Given the description of an element on the screen output the (x, y) to click on. 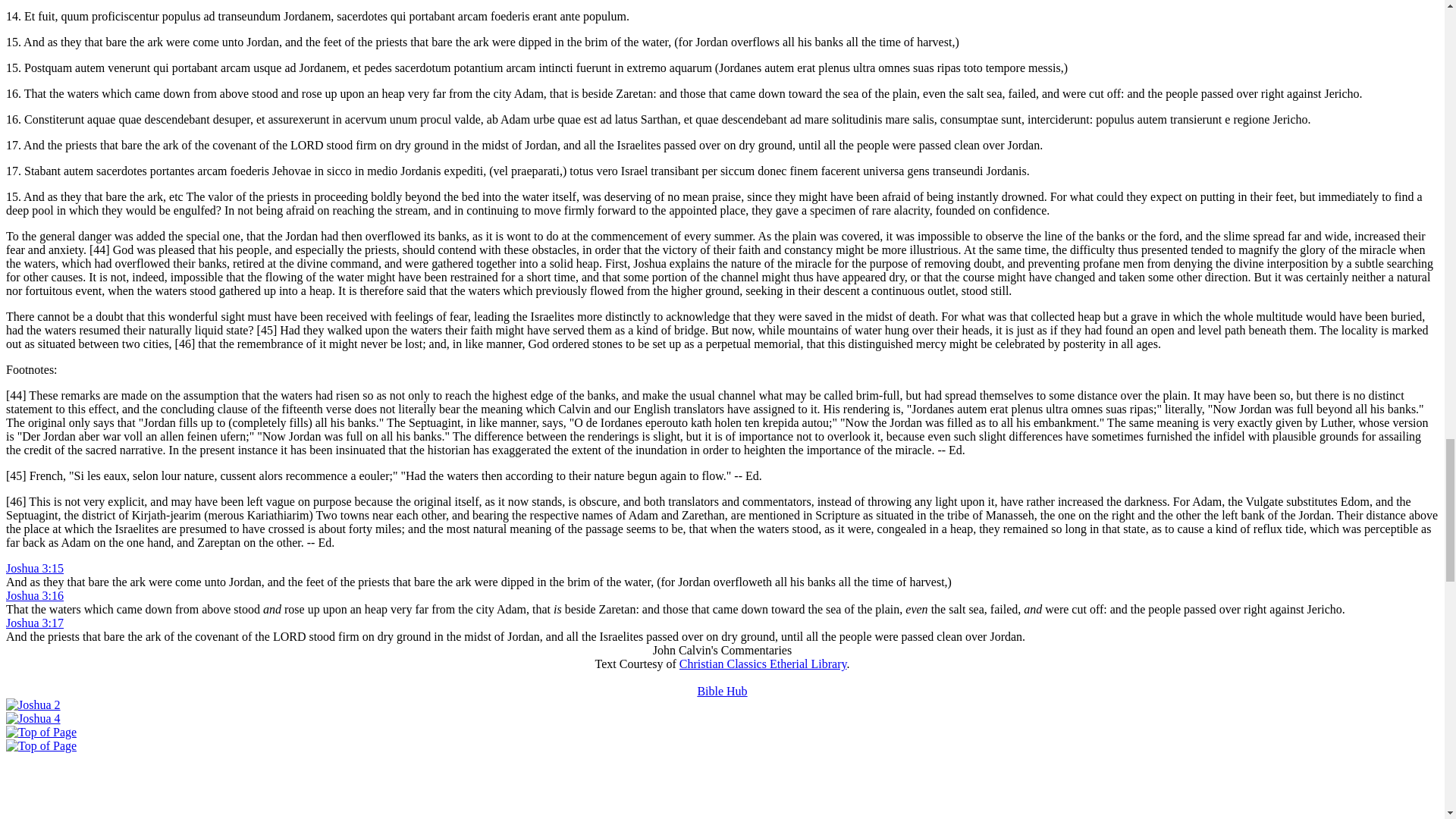
Joshua 2 (33, 704)
Joshua 3:15 (34, 567)
Joshua 3:16 (34, 594)
Top of Page (41, 745)
Joshua 4 (33, 717)
Christian Classics Etherial Library (763, 663)
Joshua 3:17 (34, 622)
Bible Hub (721, 690)
Top of Page (41, 731)
